Given the description of an element on the screen output the (x, y) to click on. 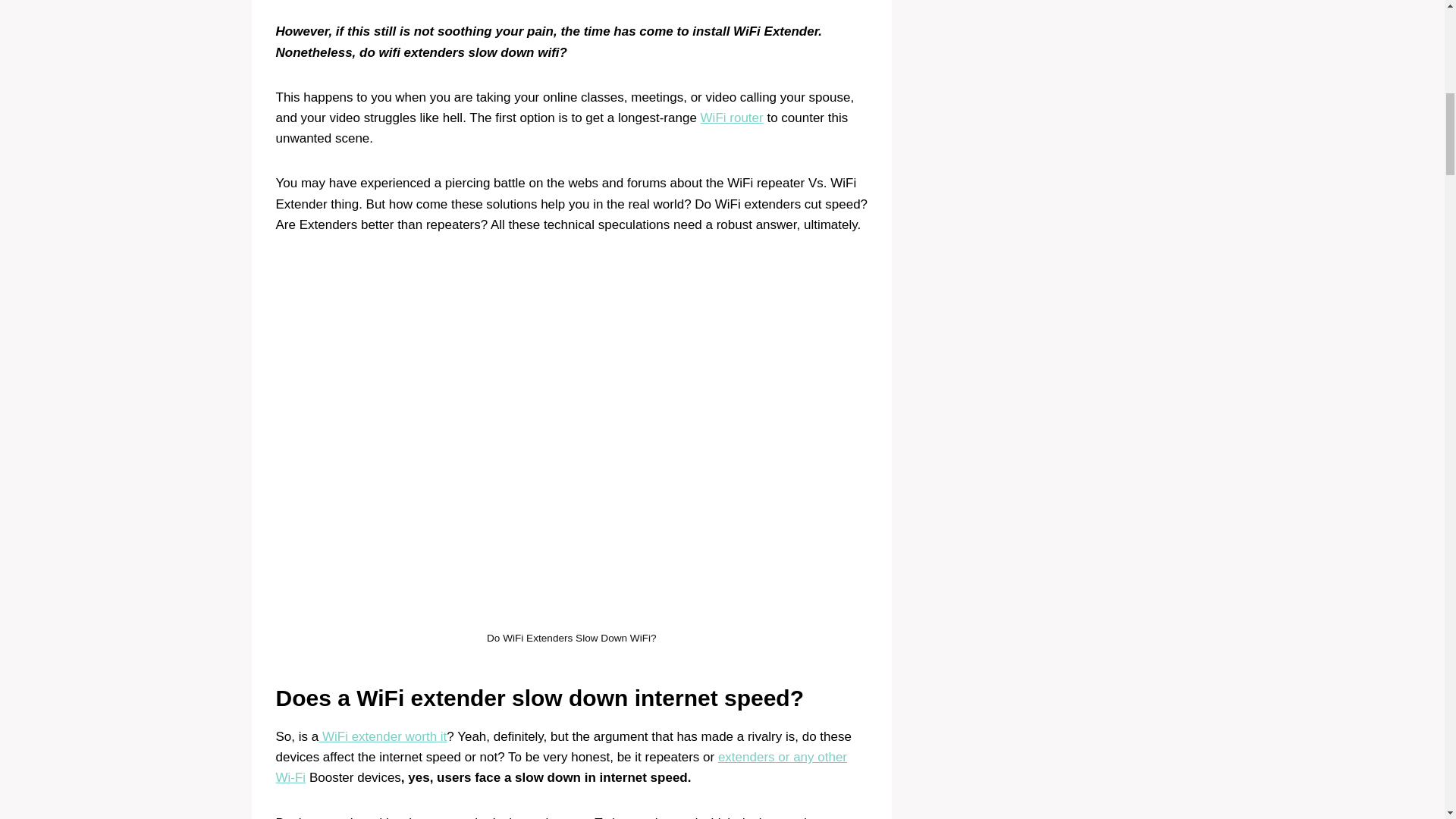
WiFi router (731, 117)
extenders or any other Wi-Fi (561, 767)
WiFi extender worth it (382, 736)
